Given the description of an element on the screen output the (x, y) to click on. 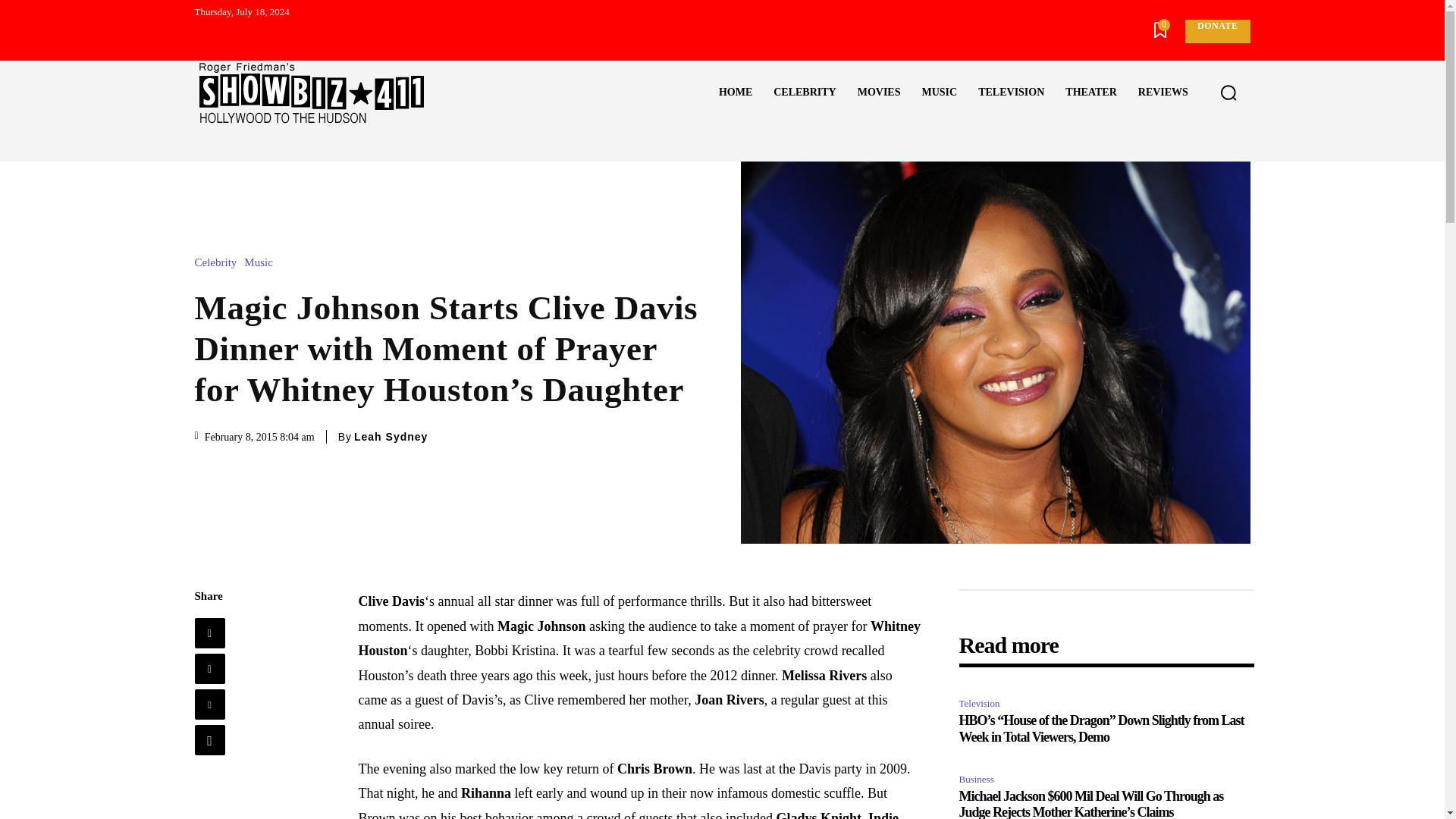
MUSIC (939, 92)
WhatsApp (208, 739)
MOVIES (879, 92)
Facebook (208, 633)
Pinterest (208, 704)
Twitter (208, 668)
TELEVISION (1011, 92)
Celebrity (218, 262)
REVIEWS (1162, 92)
CELEBRITY (803, 92)
THEATER (1090, 92)
Donate (1217, 31)
DONATE (1217, 31)
HOME (734, 92)
